Given the description of an element on the screen output the (x, y) to click on. 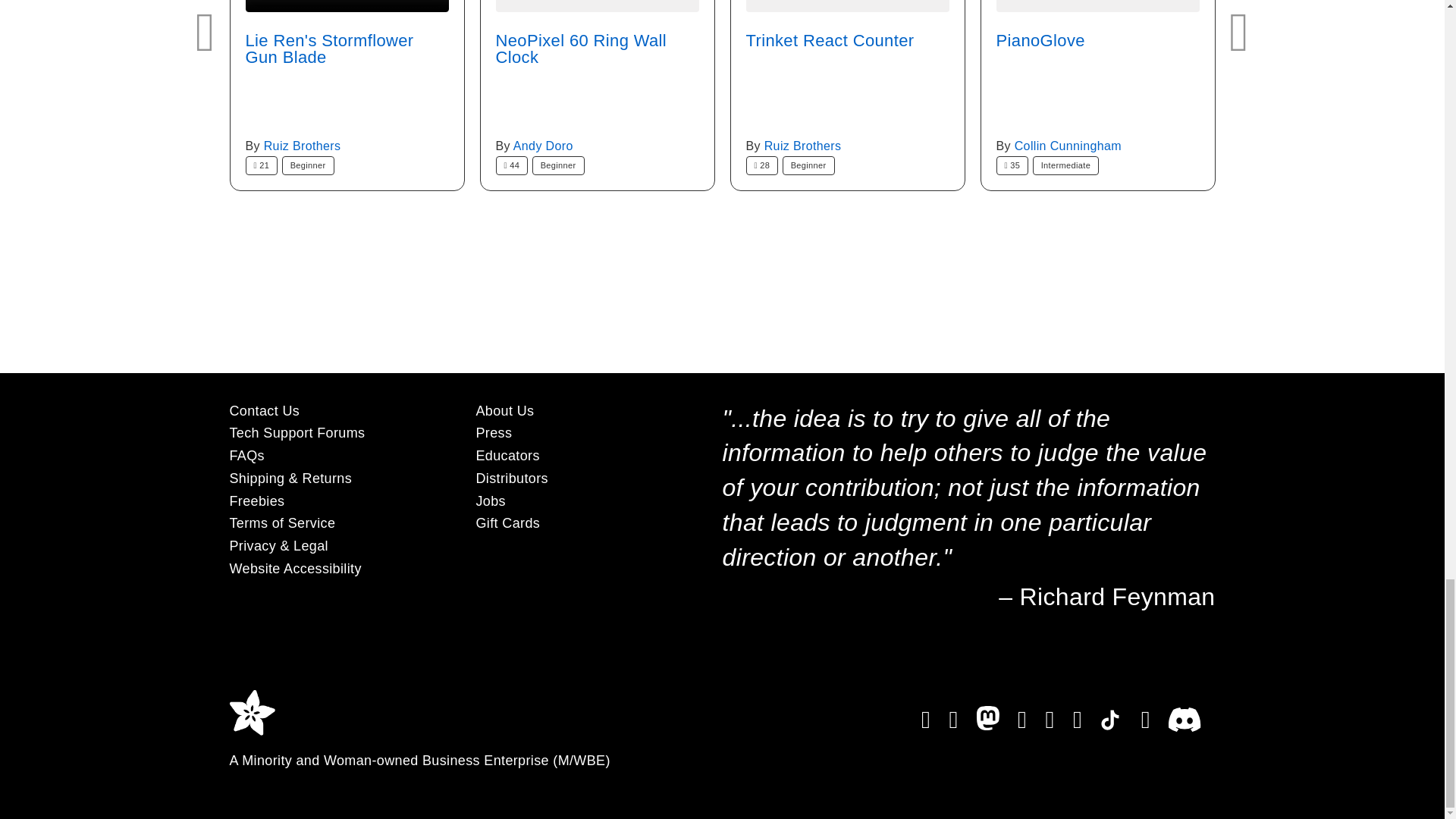
Saves (262, 165)
Saves (512, 165)
Saves (761, 165)
Saves (1012, 165)
